Given the description of an element on the screen output the (x, y) to click on. 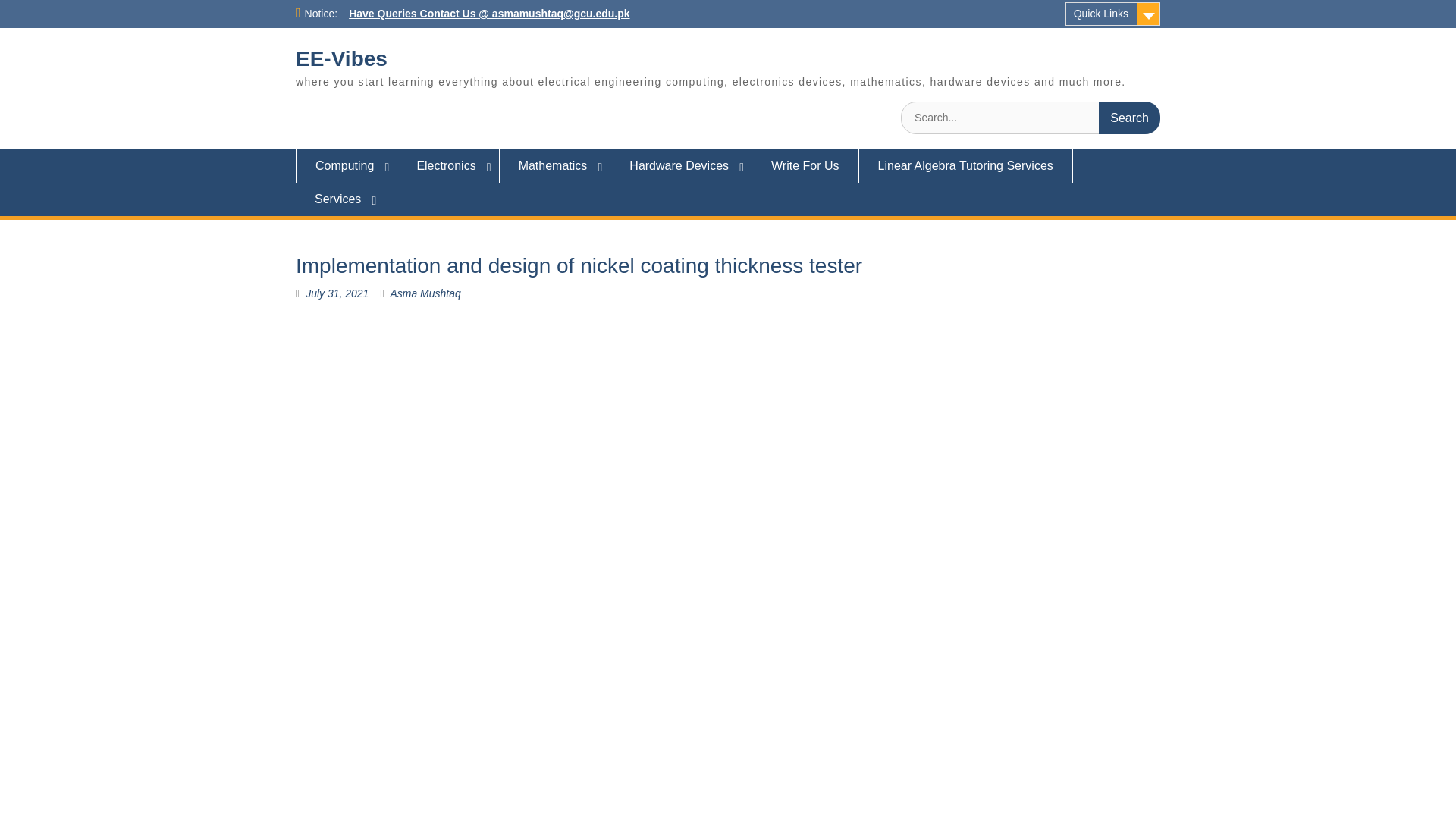
Electronics (448, 165)
Asma Mushtaq (425, 293)
Search (1129, 117)
Hardware Devices (681, 165)
Search (1129, 117)
Search (1129, 117)
EE-Vibes (341, 58)
Quick Links (1112, 13)
Mathematics (555, 165)
Write For Us (805, 165)
Search for: (1030, 117)
Services (339, 199)
Computing (346, 165)
Linear Algebra Tutoring Services (966, 165)
